Given the description of an element on the screen output the (x, y) to click on. 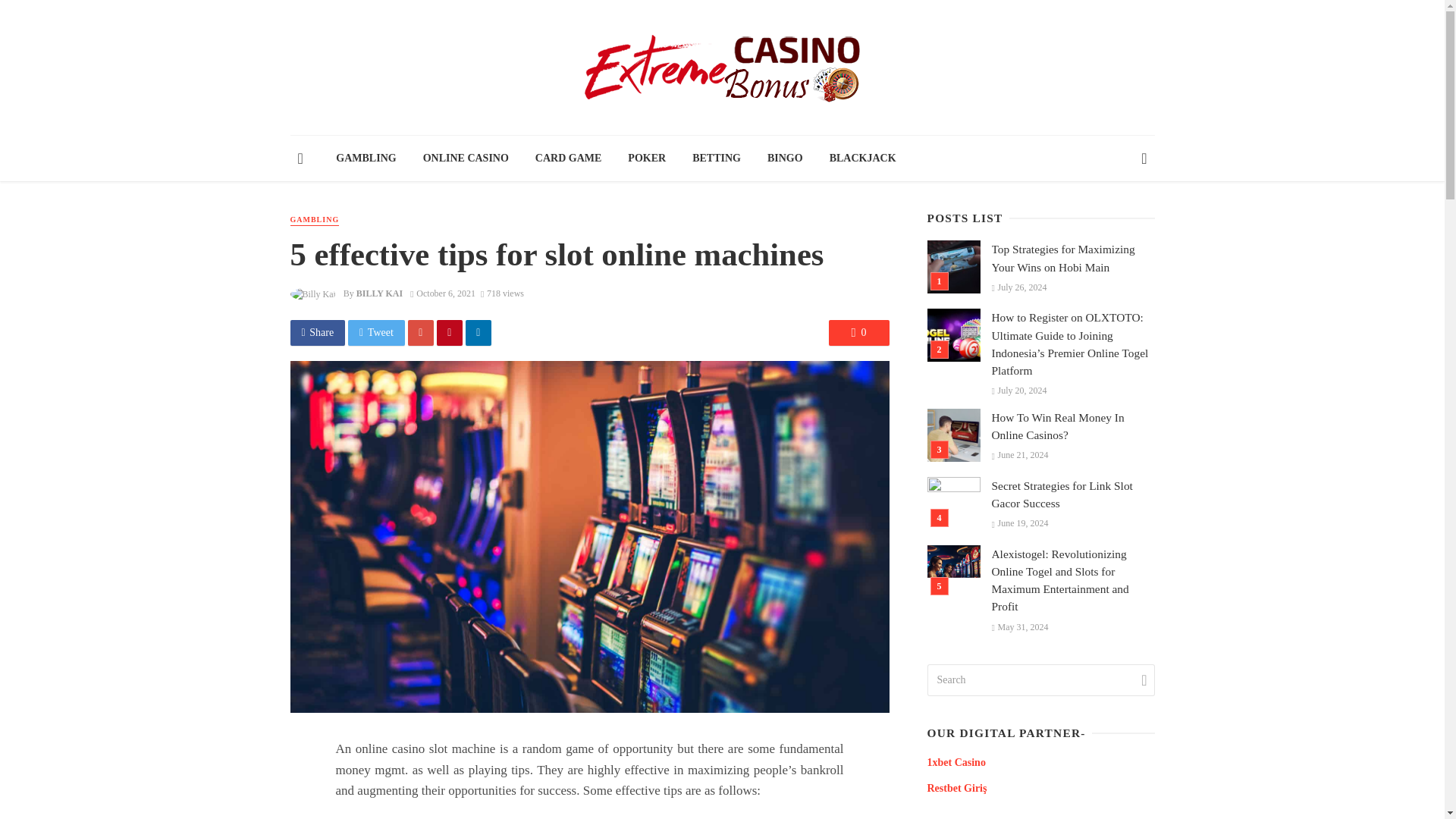
ONLINE CASINO (465, 157)
Share on Linkedin (478, 332)
Tweet (375, 332)
BINGO (784, 157)
GAMBLING (314, 220)
GAMBLING (366, 157)
Share on Twitter (375, 332)
CARD GAME (567, 157)
October 6, 2021 at 11:08 am (443, 293)
0 (858, 332)
BETTING (716, 157)
Share on Facebook (317, 332)
Share on Pinterest (449, 332)
Share (317, 332)
0 Comments (858, 332)
